Given the description of an element on the screen output the (x, y) to click on. 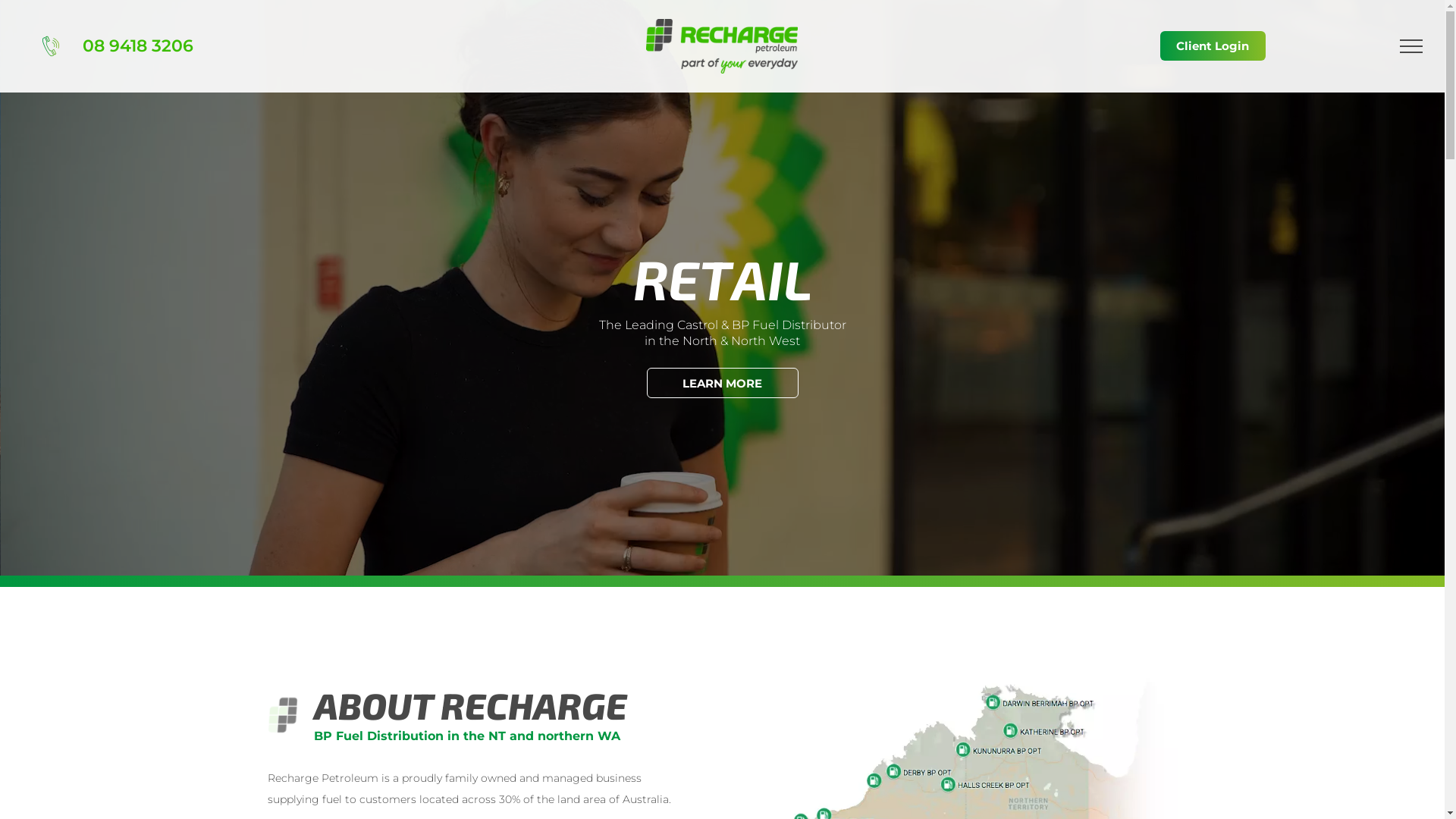
08 9418 3206 Element type: text (137, 45)
Client Login Element type: text (1212, 45)
LEARN MORE Element type: text (721, 382)
